Given the description of an element on the screen output the (x, y) to click on. 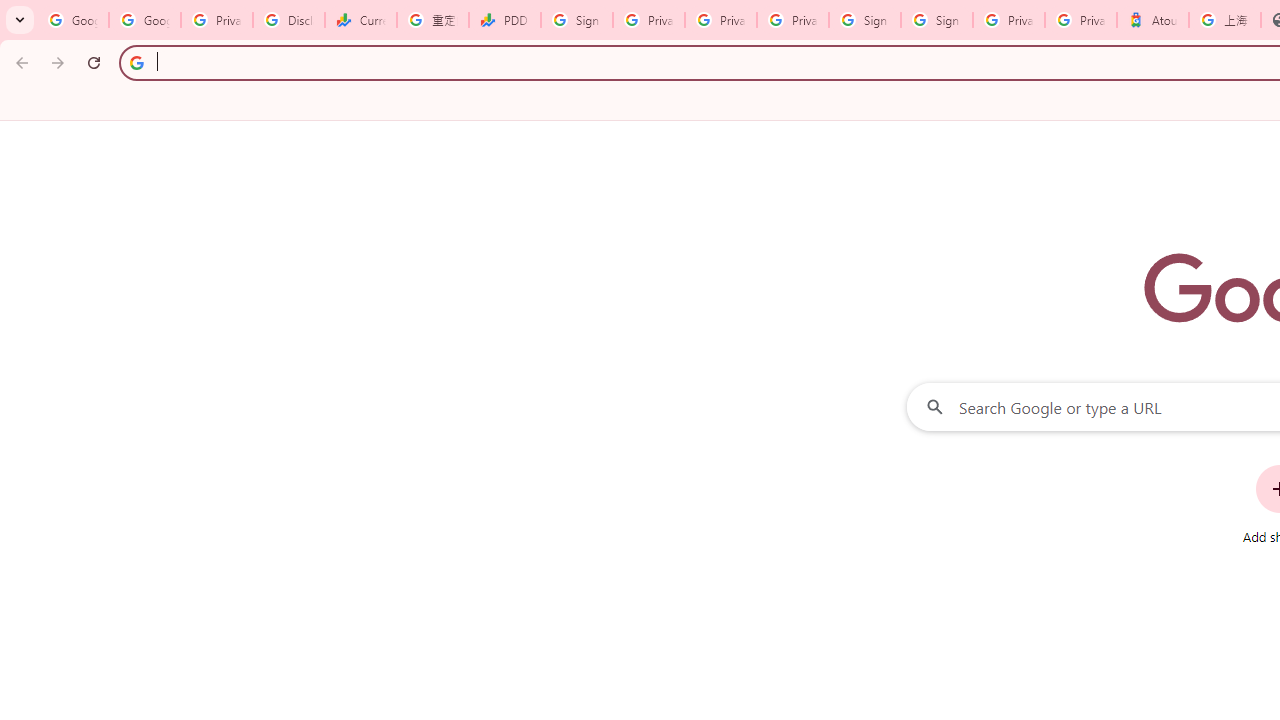
Privacy Checkup (792, 20)
Sign in - Google Accounts (577, 20)
Sign in - Google Accounts (936, 20)
Currencies - Google Finance (360, 20)
Google Workspace Admin Community (72, 20)
Search icon (136, 62)
